Given the description of an element on the screen output the (x, y) to click on. 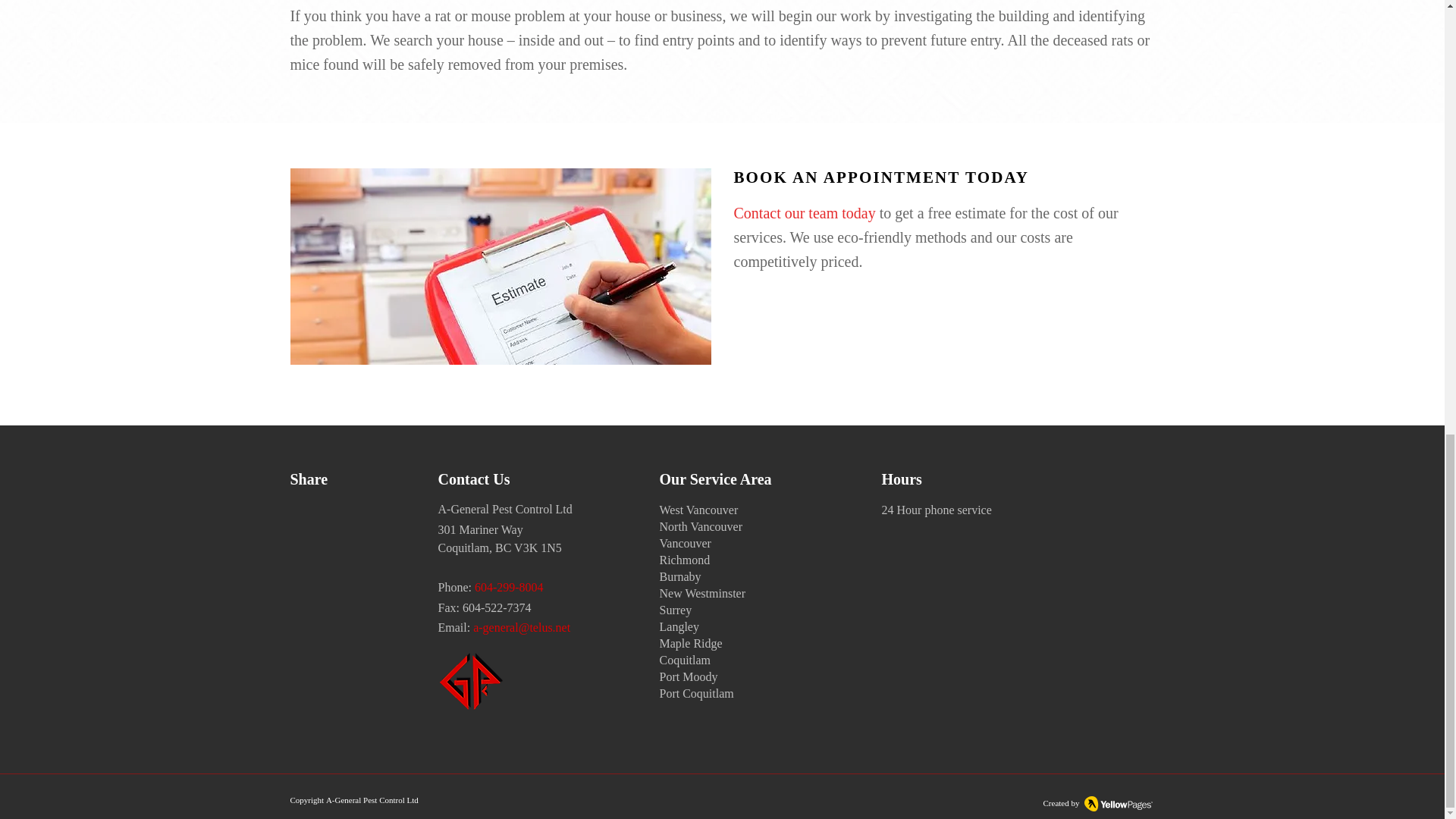
604-299-8004 (508, 588)
Contact our team today (804, 215)
A-General Pest Control Ltd (372, 799)
